Given the description of an element on the screen output the (x, y) to click on. 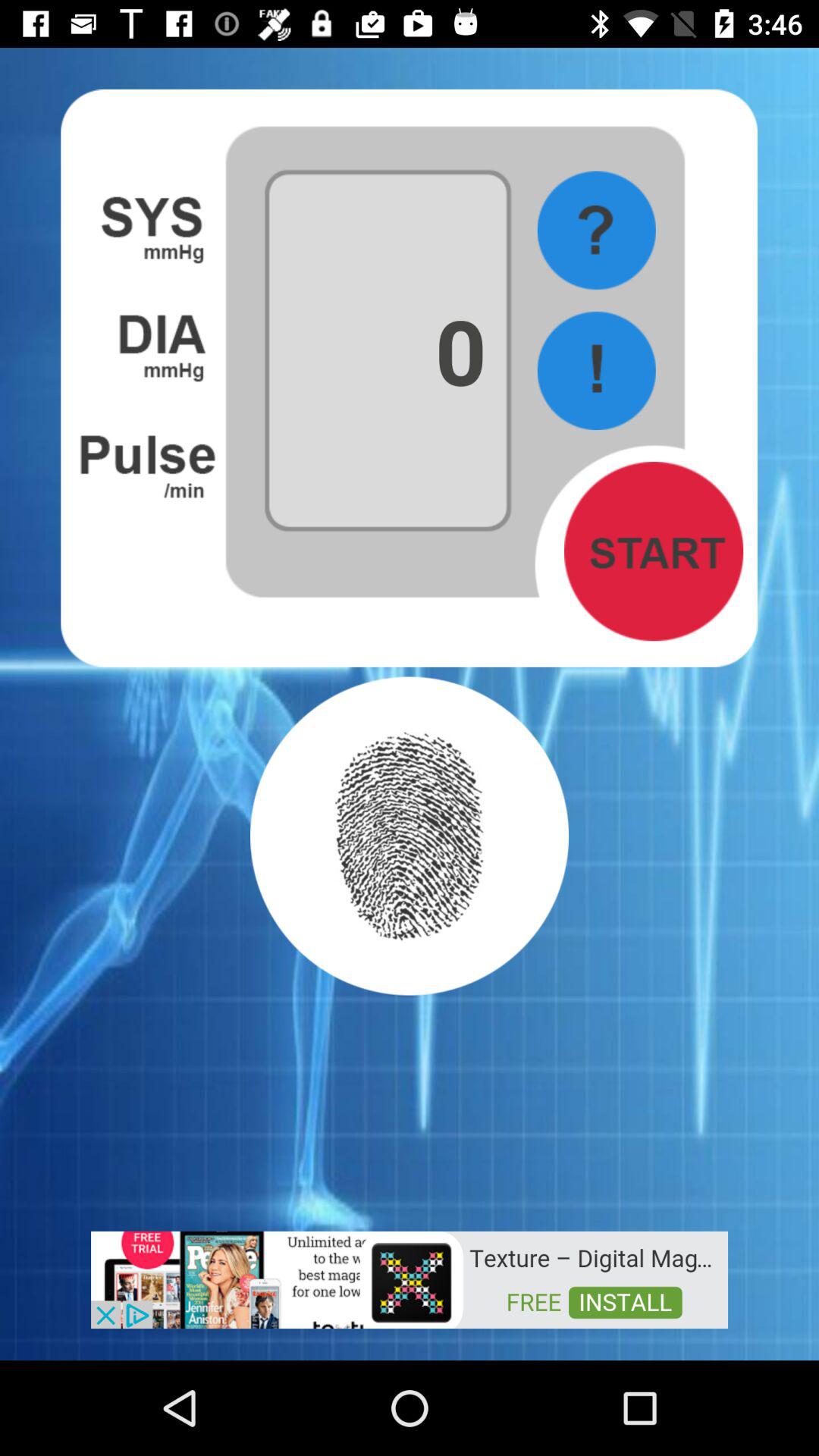
help option (596, 230)
